Given the description of an element on the screen output the (x, y) to click on. 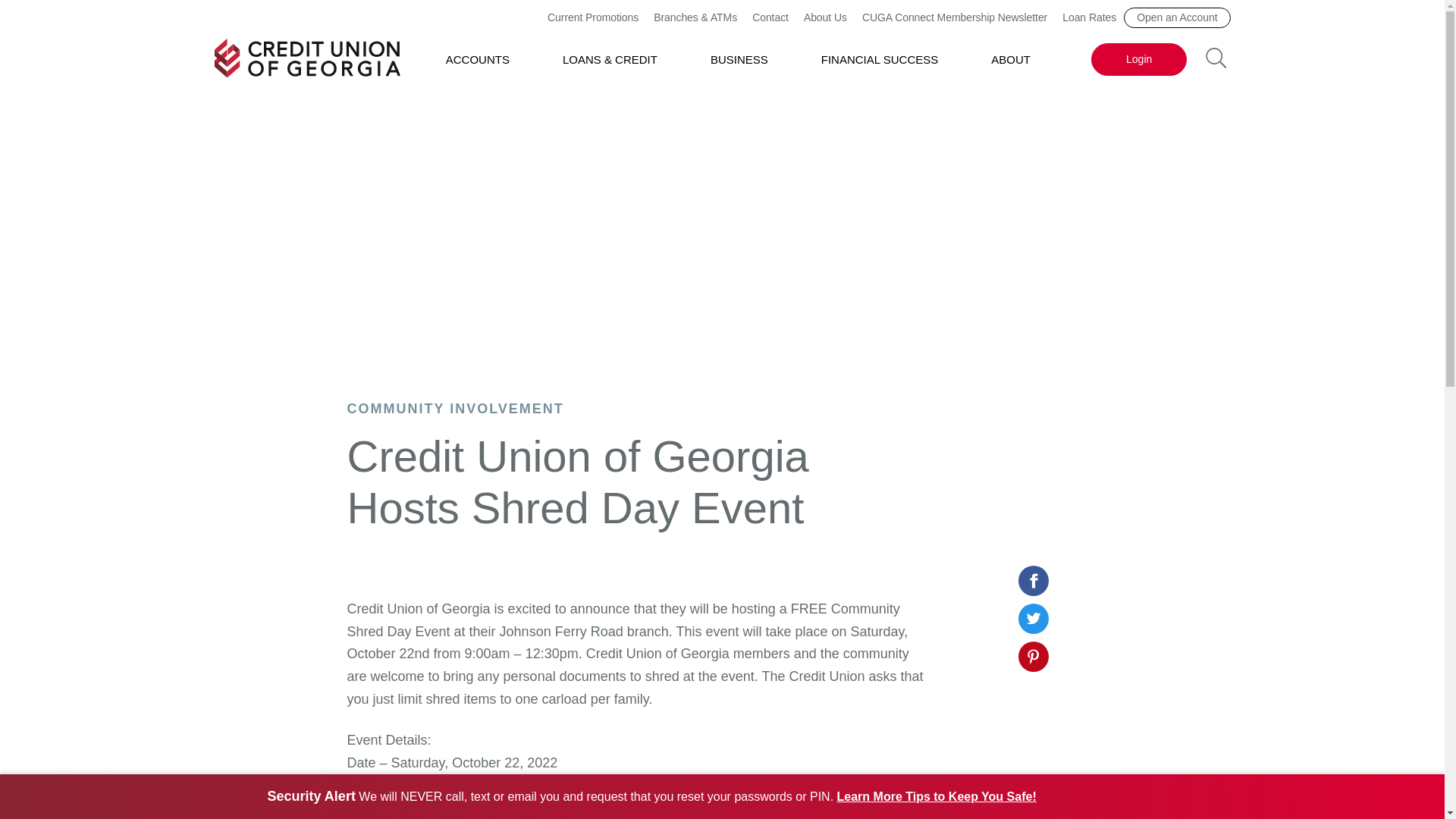
Credit Union of Georgia - Homepage (306, 57)
Open an Account (1177, 17)
ACCOUNTS (477, 59)
Contact (770, 17)
CUGA Connect Membership Newsletter (954, 17)
Loan Rates (1089, 17)
Current Promotions (593, 17)
About Us (825, 17)
search Created with Sketch. (1216, 56)
